Given the description of an element on the screen output the (x, y) to click on. 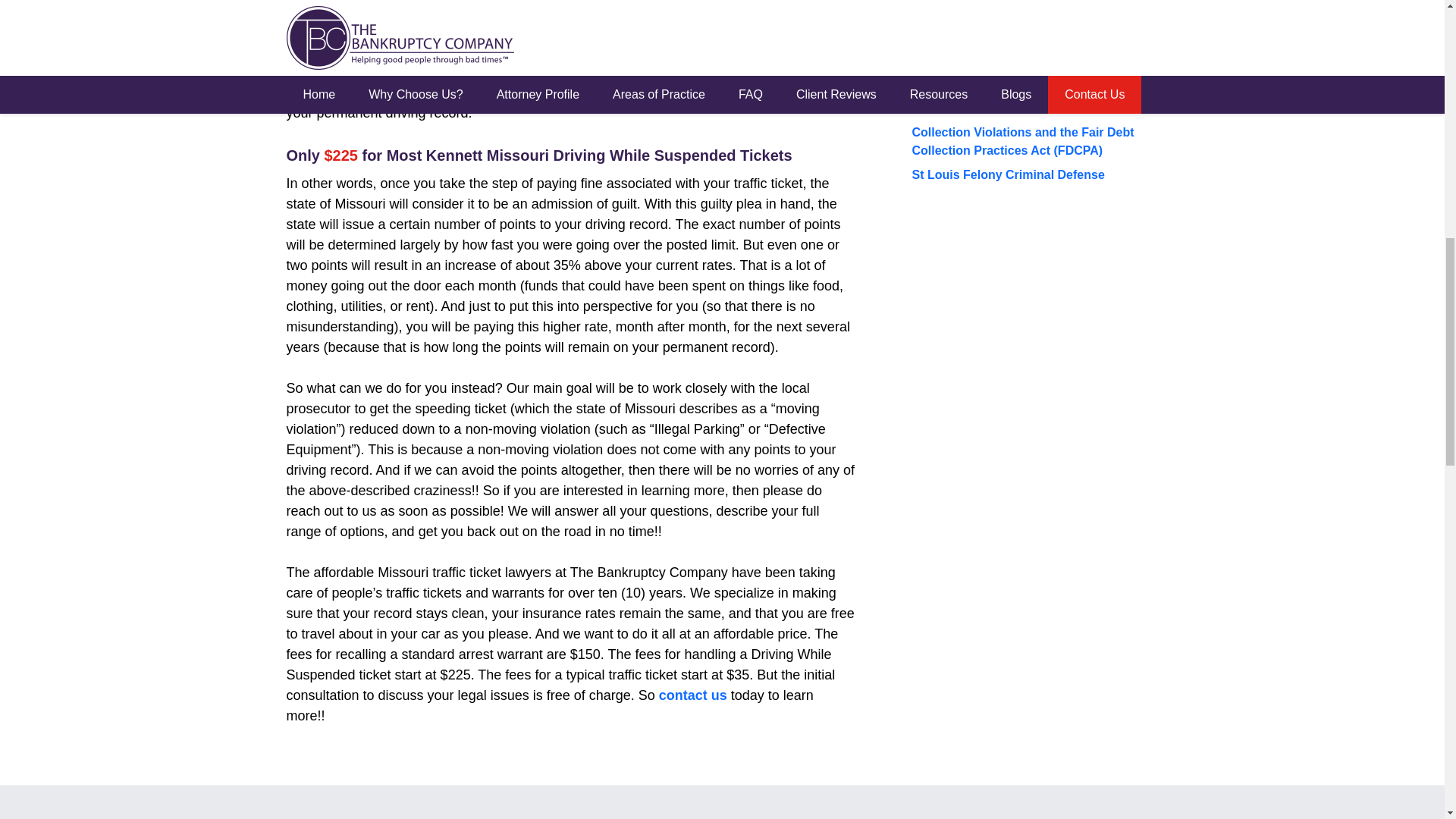
contact us (692, 694)
St Louis Felony Criminal Defense (1007, 174)
St. Louis Bankruptcy (971, 22)
St. Louis Foreclosure Defense (998, 2)
